Given the description of an element on the screen output the (x, y) to click on. 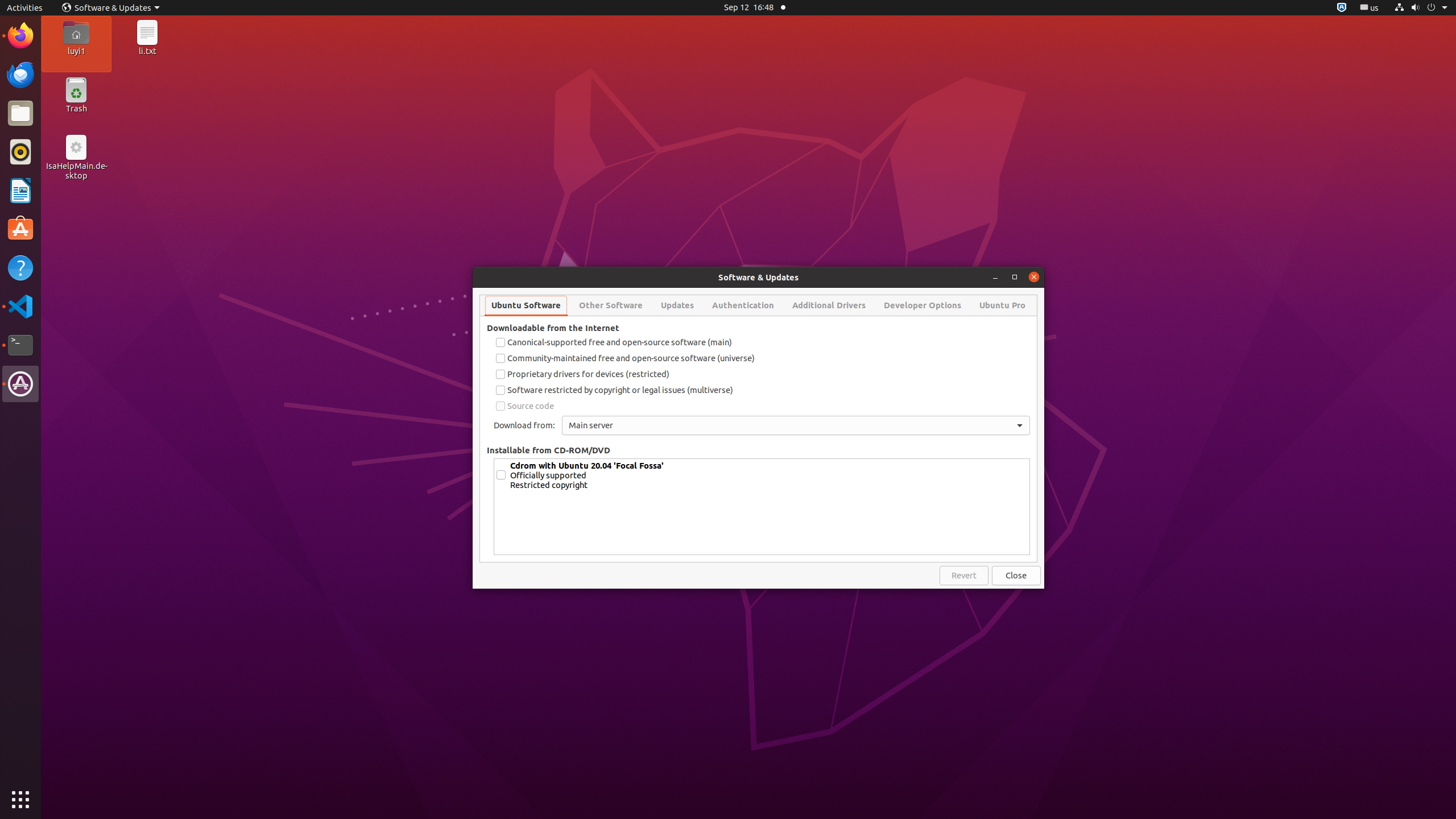
Community-maintained free and open-source software (universe) Element type: check-box (761, 358)
Other Software Element type: page-tab (610, 304)
Main server Element type: combo-box (795, 425)
